Given the description of an element on the screen output the (x, y) to click on. 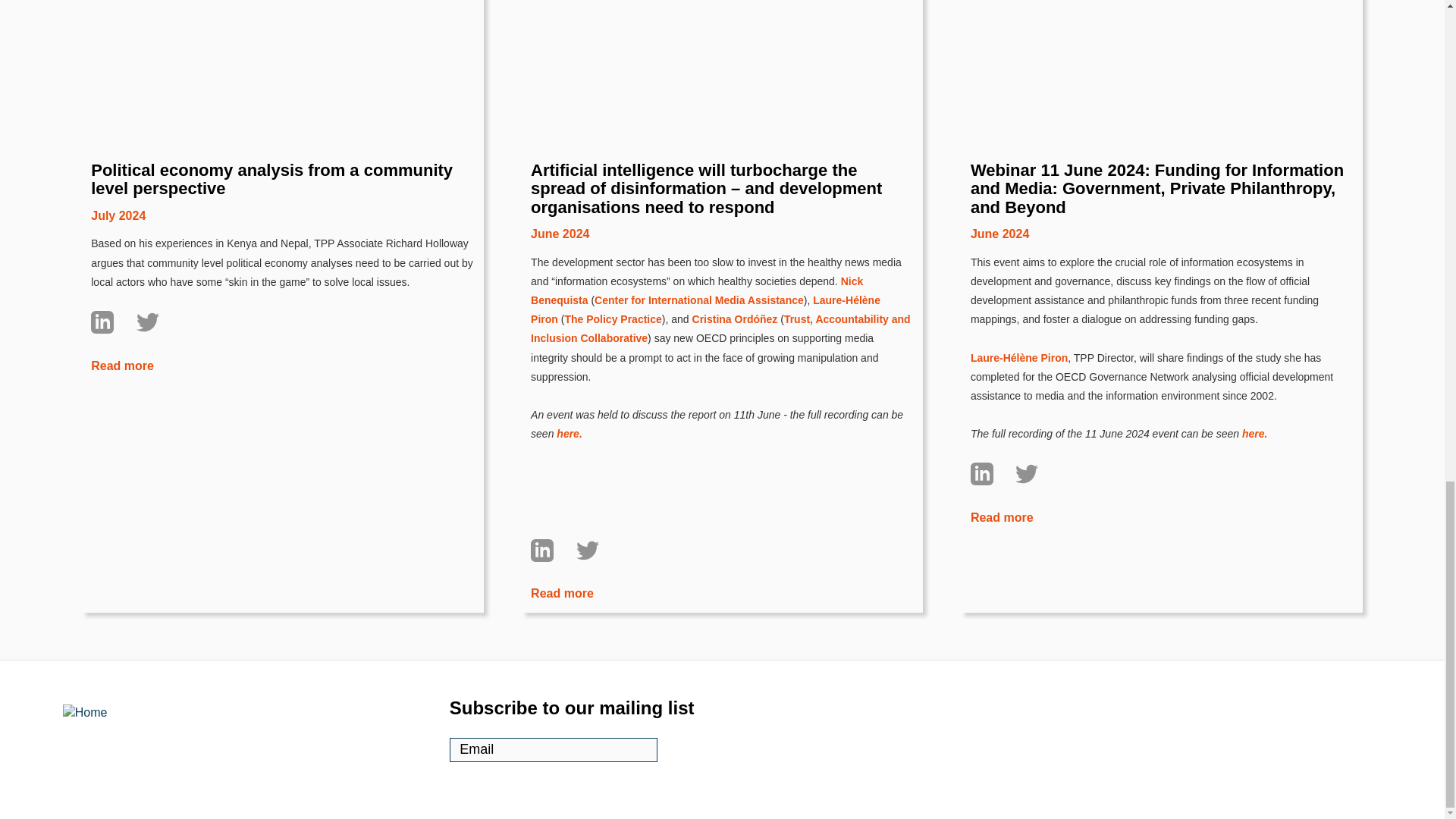
Nick Benequista (697, 290)
Home (128, 738)
Center for International Media Assistance (698, 300)
Read more (122, 365)
The Policy Practice (612, 318)
